Given the description of an element on the screen output the (x, y) to click on. 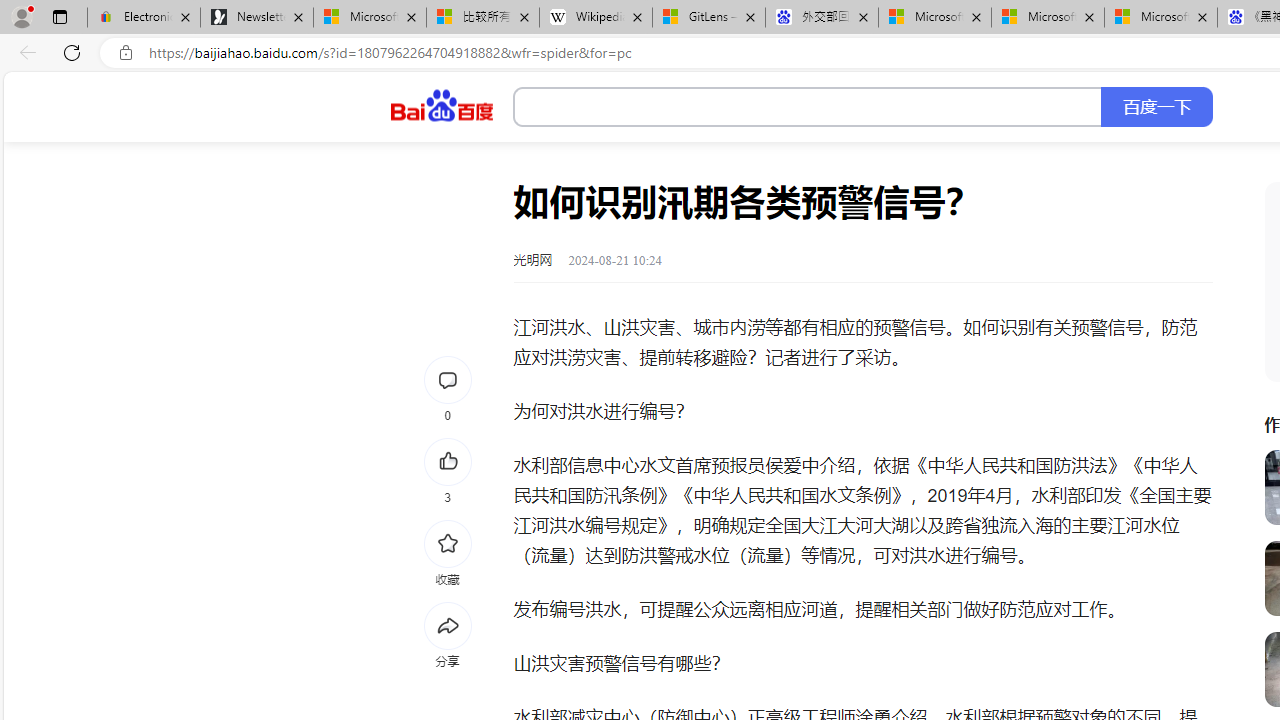
Class: _2C4fV (808, 107)
Newsletter Sign Up (257, 17)
